Given the description of an element on the screen output the (x, y) to click on. 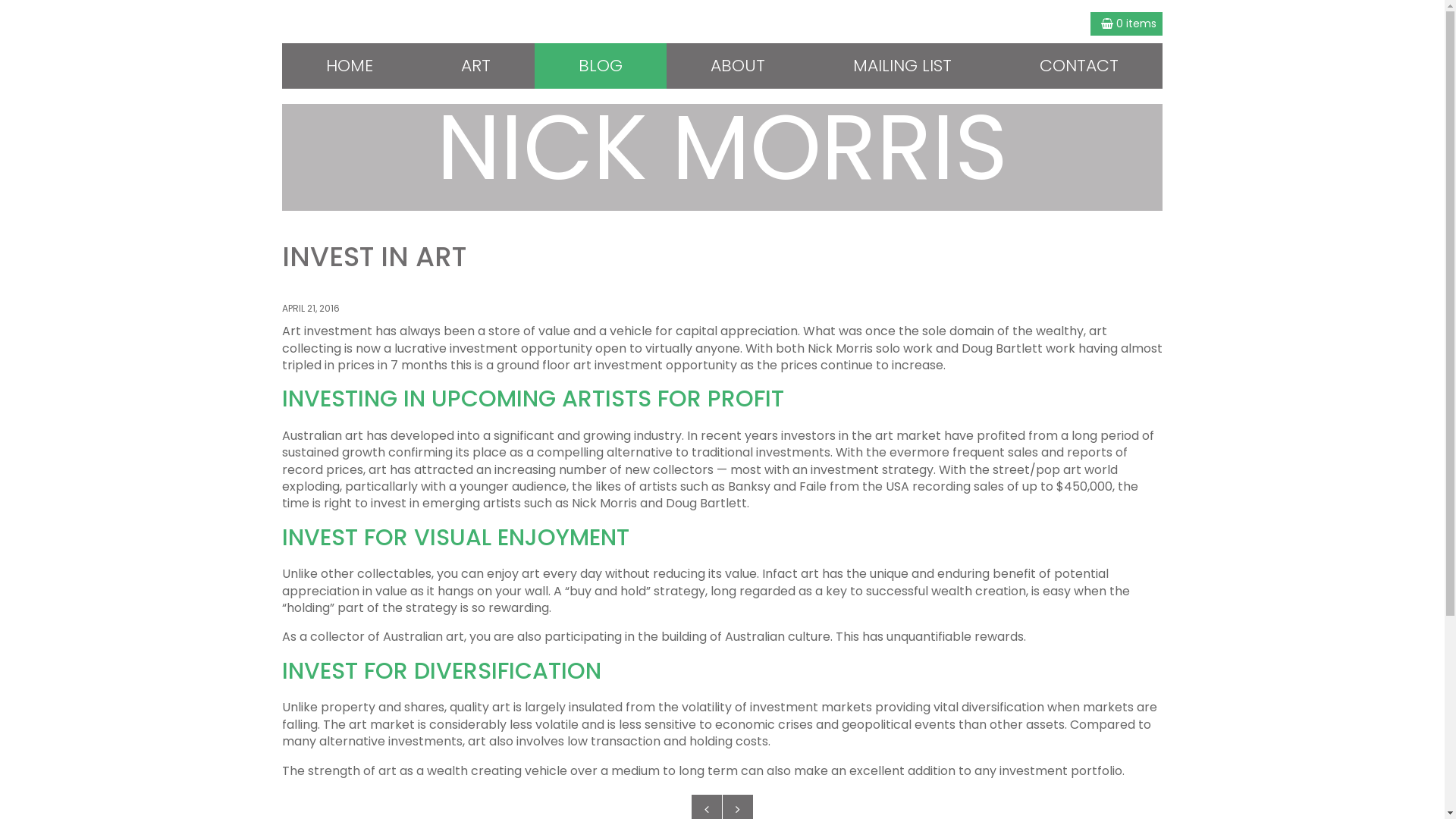
MAILING LIST Element type: text (902, 65)
NICK MORRIS Element type: text (722, 142)
ABOUT Element type: text (737, 65)
BLOG Element type: text (600, 65)
CONTACT Element type: text (1078, 65)
HOME Element type: text (349, 65)
ART Element type: text (475, 65)
 0 items Element type: text (1126, 23)
